Given the description of an element on the screen output the (x, y) to click on. 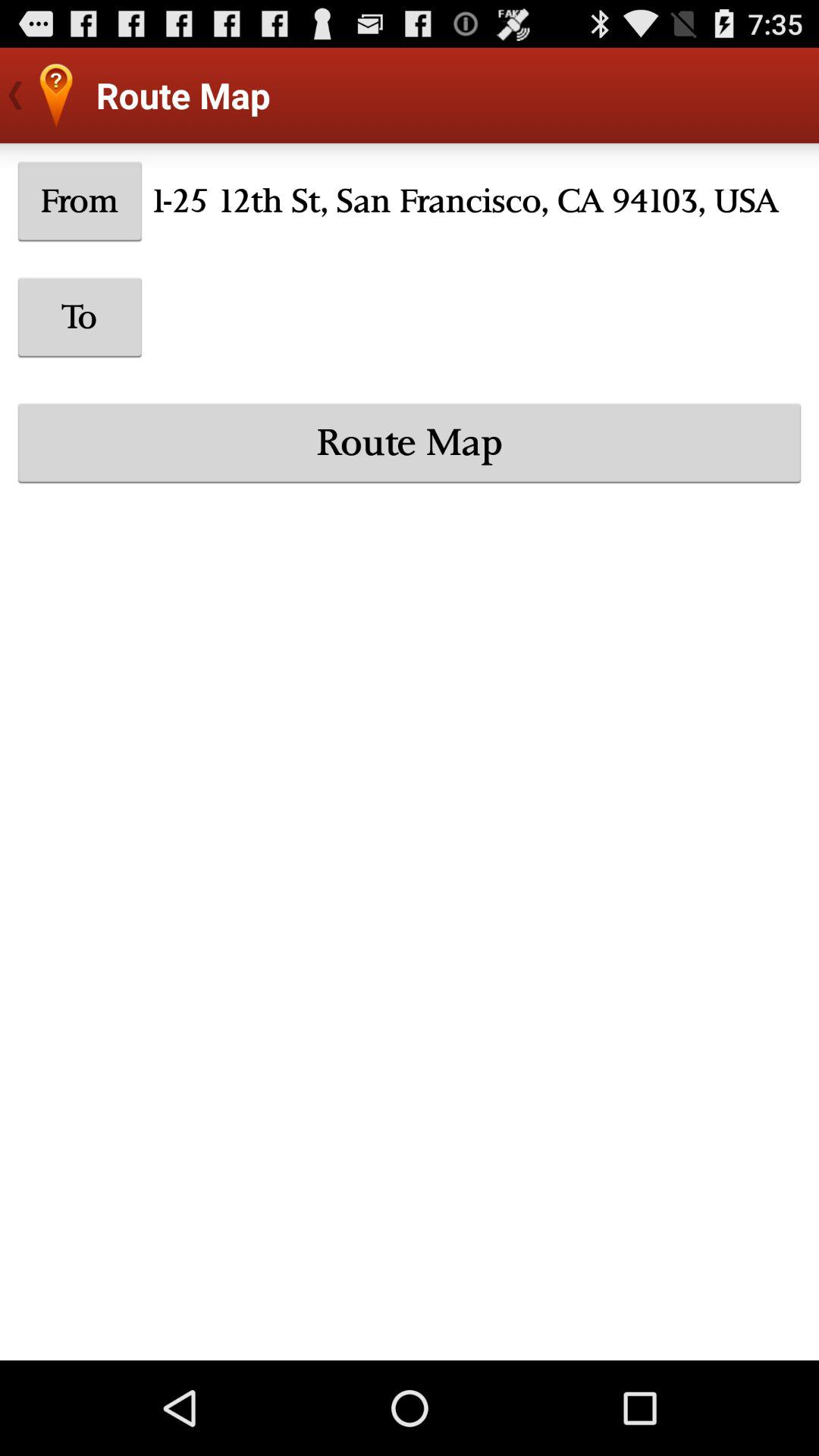
turn on the icon to the left of the 1 25 12th app (79, 201)
